Given the description of an element on the screen output the (x, y) to click on. 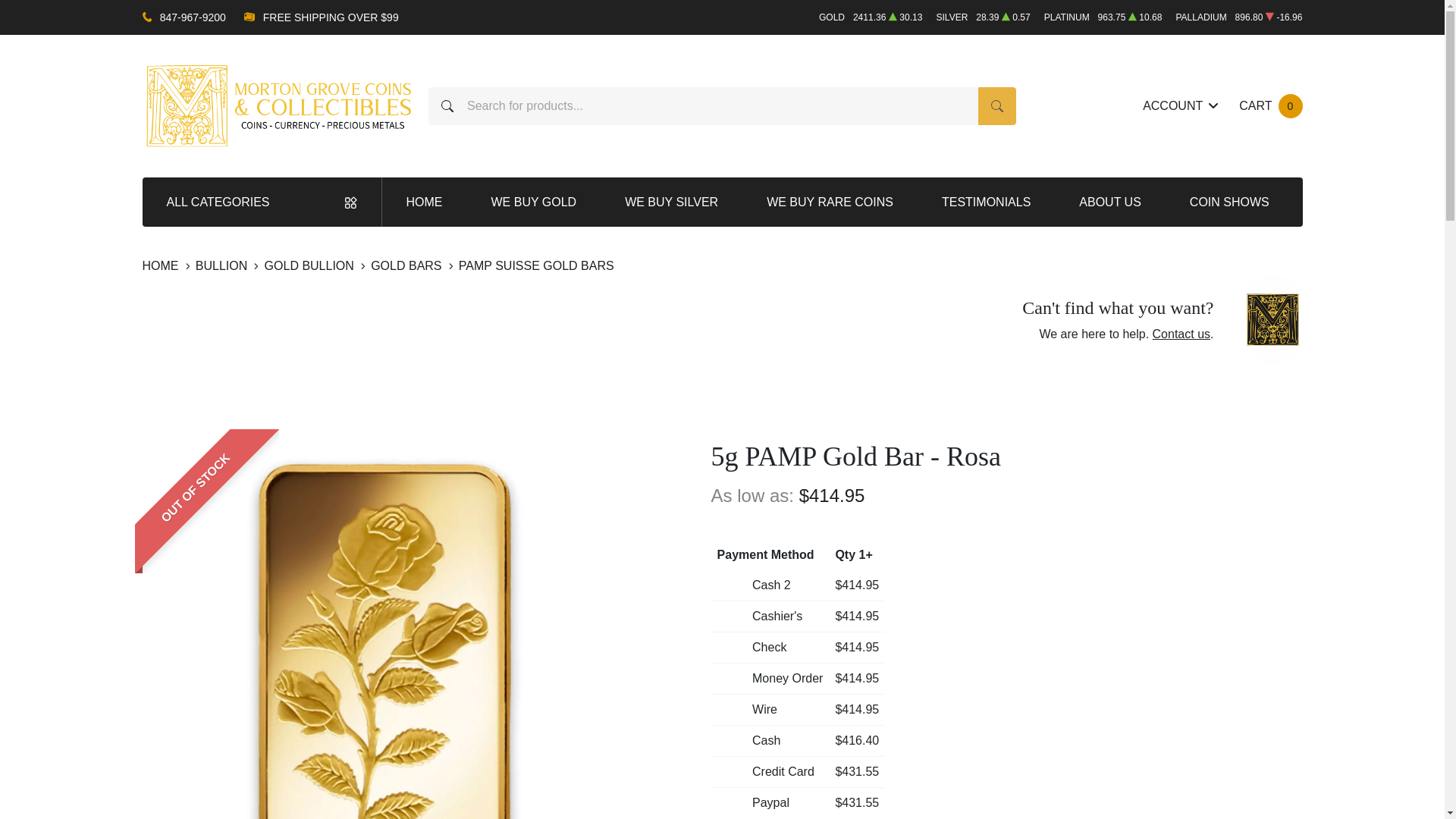
TESTIMONIALS (985, 201)
HOME (162, 265)
PAMP SUISSE GOLD BARS (536, 265)
HOME (424, 201)
WE BUY GOLD (534, 201)
ACCOUNT (1179, 106)
ABOUT US (1110, 201)
847-967-9200 (192, 16)
ALL CATEGORIES (1270, 105)
COIN SHOWS (261, 201)
GOLD BULLION (1230, 201)
Contact us (311, 265)
GOLD BARS (1181, 333)
SEARCH (408, 265)
